Given the description of an element on the screen output the (x, y) to click on. 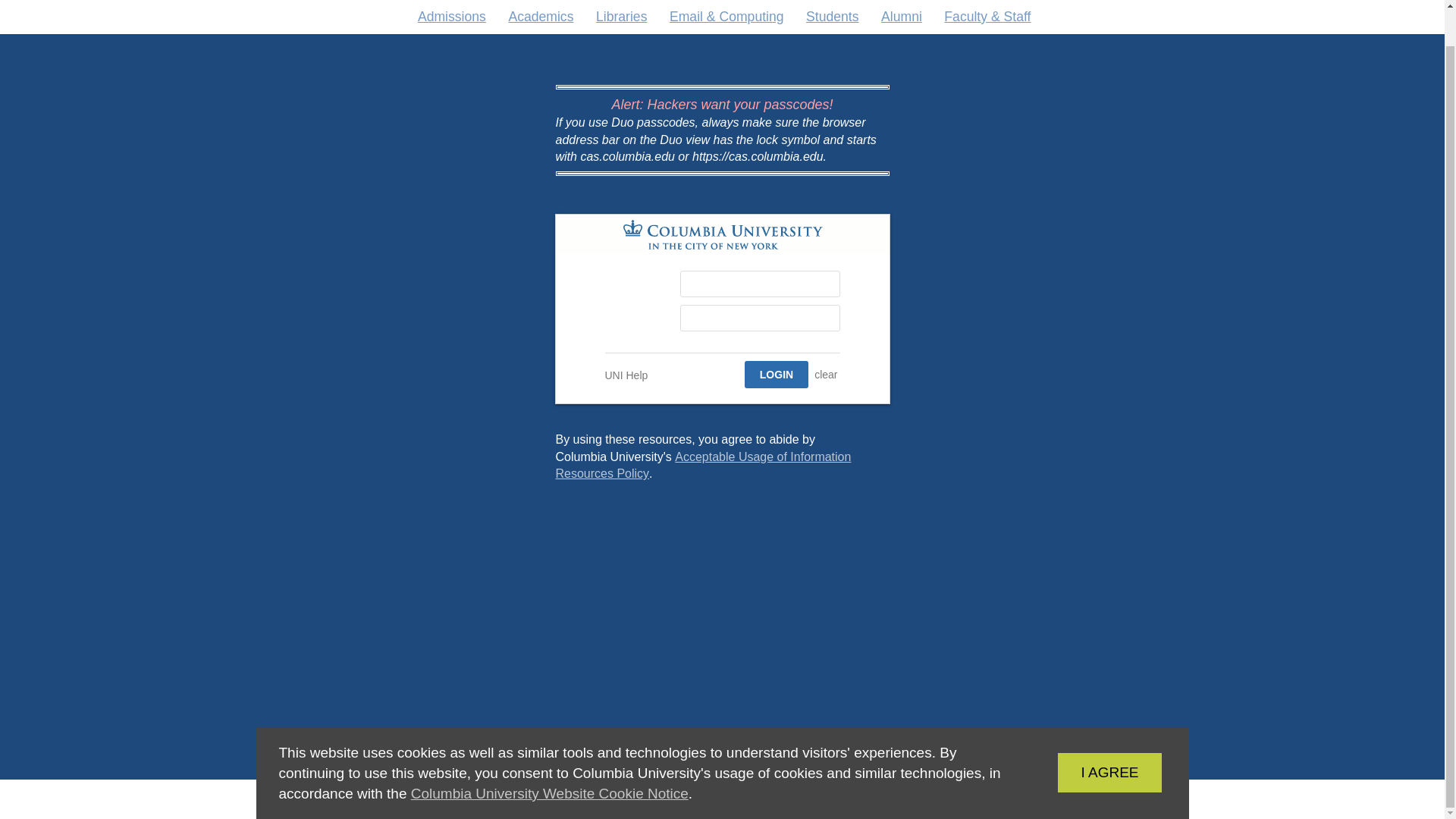
Acceptable Usage of Information Resources Policy (1086, 734)
LOGIN (702, 464)
Columbia University Website Cookie Notice (776, 374)
LOGIN (549, 755)
UNI Help (776, 374)
CLEAR (626, 375)
CUIT Service Desk (826, 374)
